Given the description of an element on the screen output the (x, y) to click on. 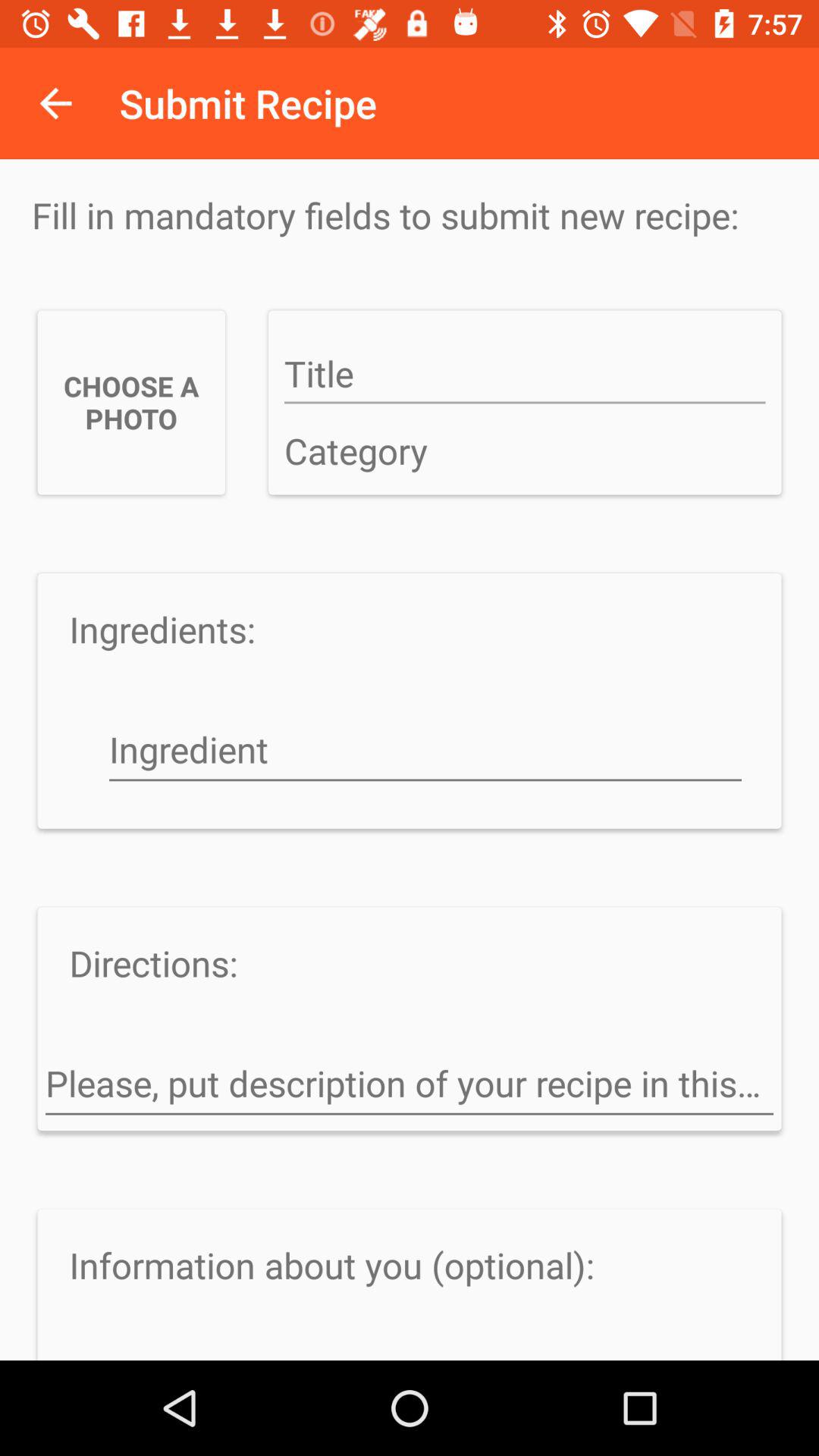
enter recipe category (524, 451)
